Given the description of an element on the screen output the (x, y) to click on. 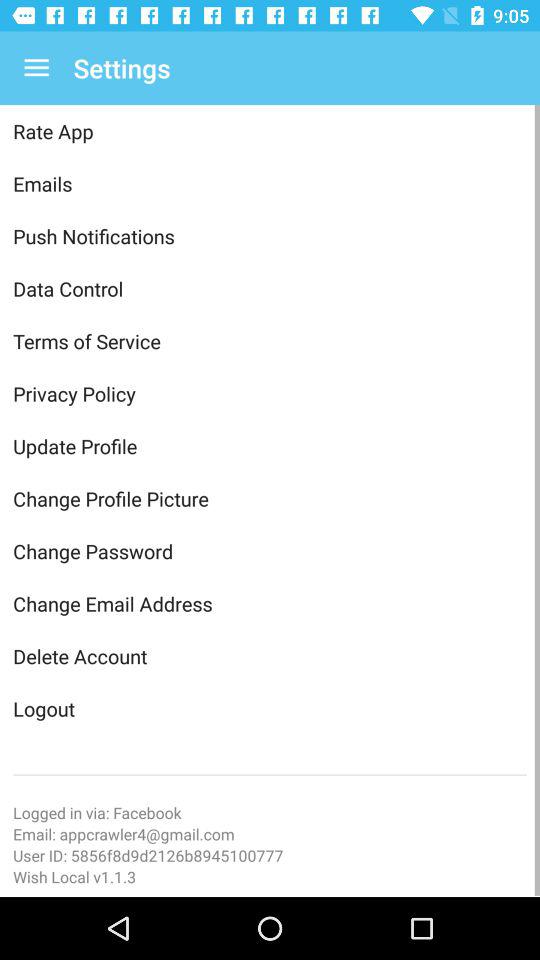
tap the icon below delete account (269, 708)
